Given the description of an element on the screen output the (x, y) to click on. 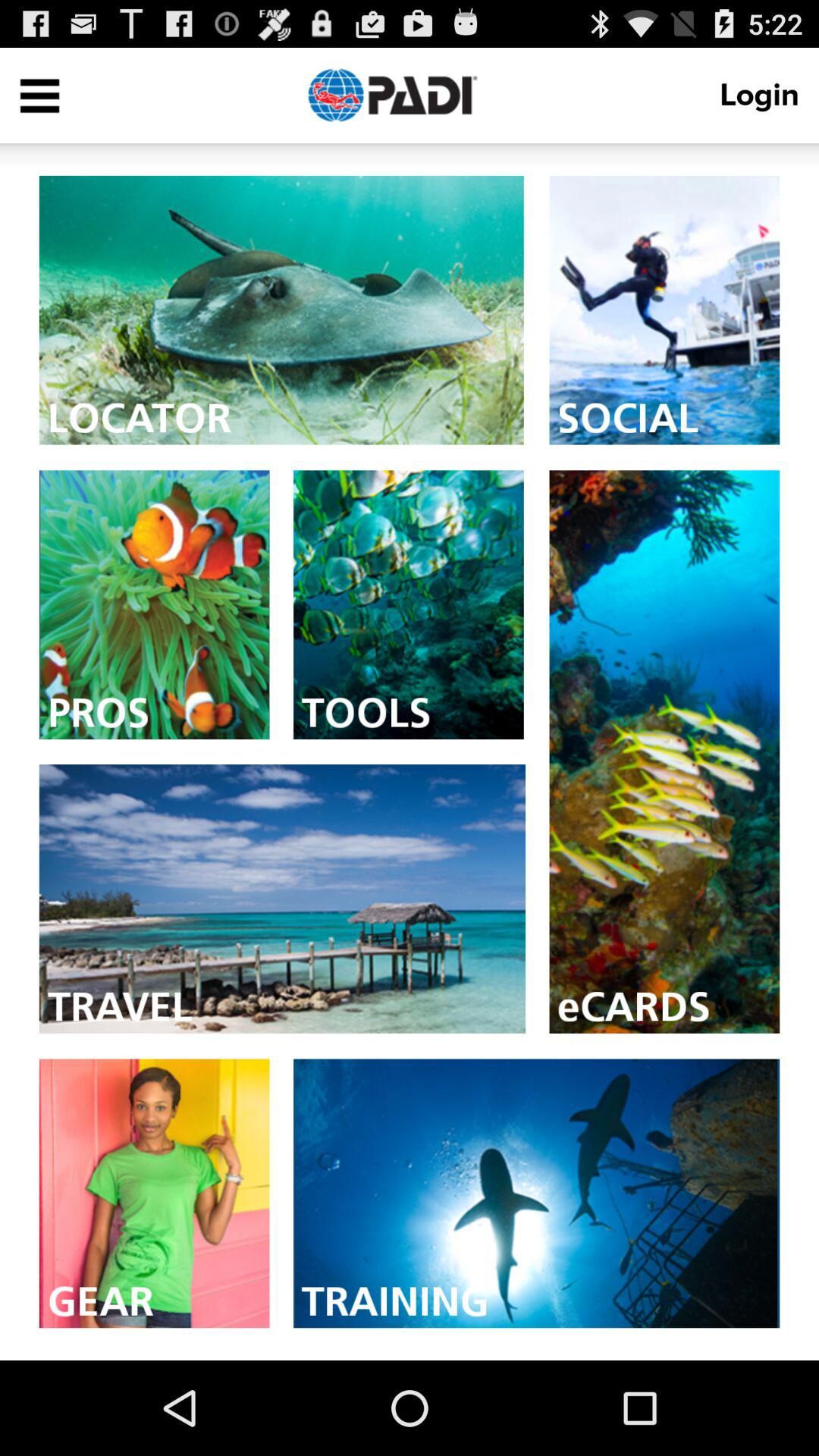
go to pros (154, 604)
